Given the description of an element on the screen output the (x, y) to click on. 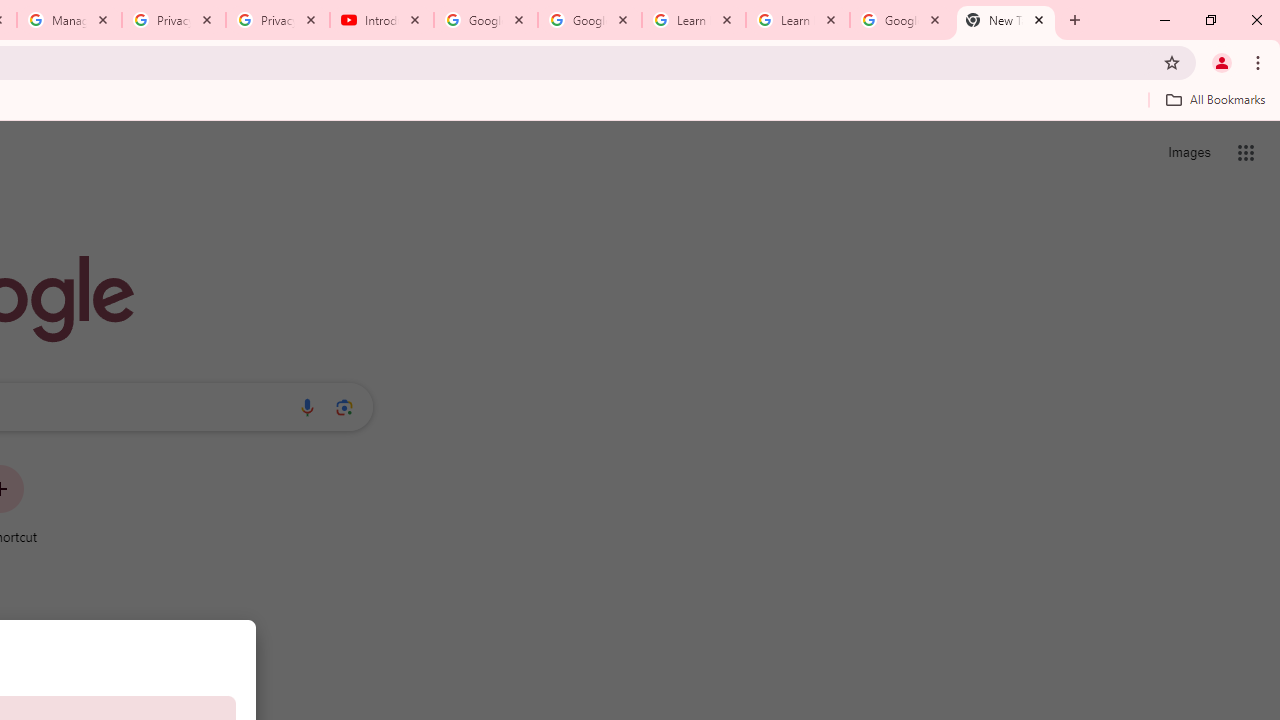
New Tab (1005, 20)
